Given the description of an element on the screen output the (x, y) to click on. 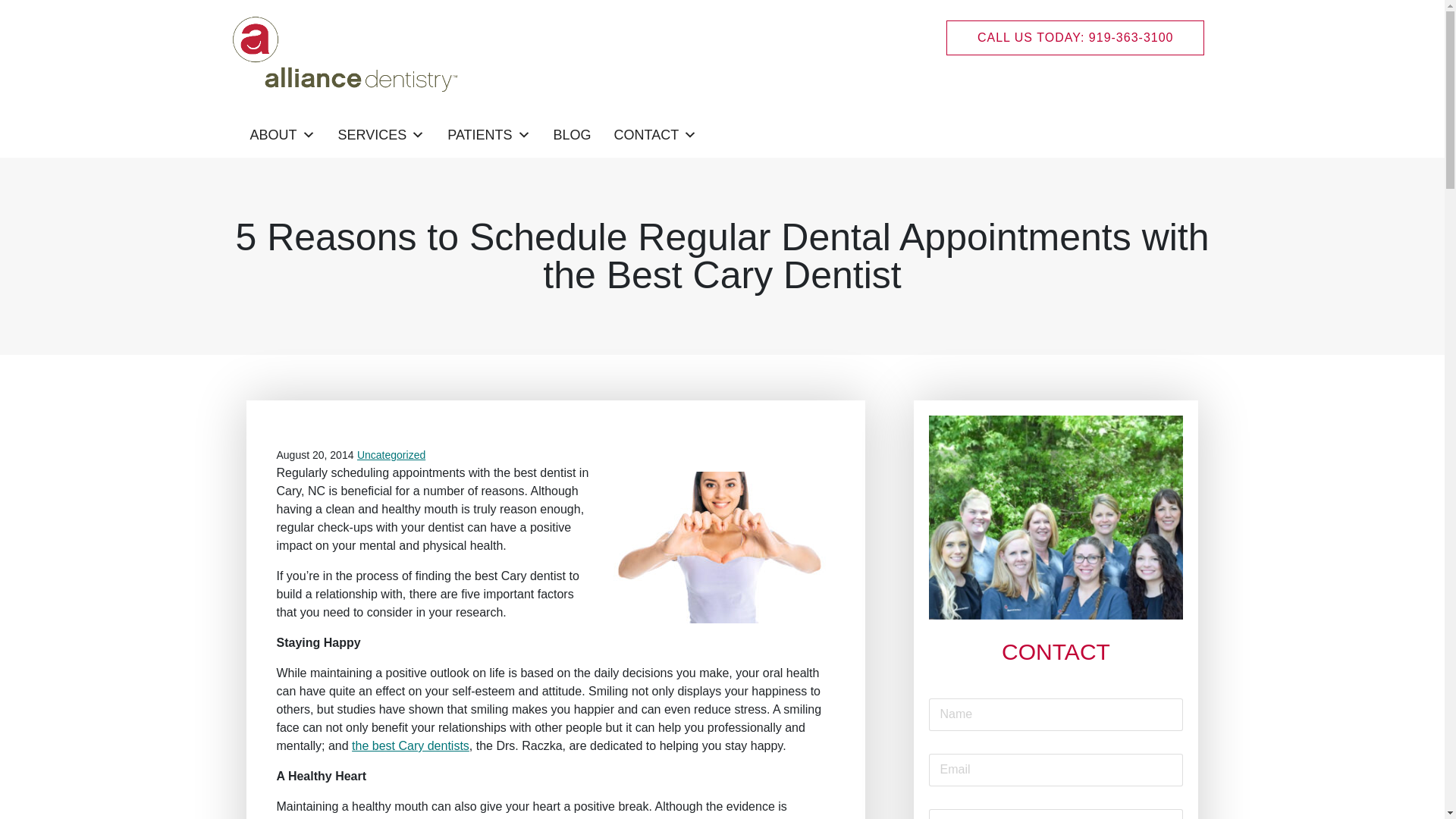
SERVICES (381, 134)
ABOUT (282, 134)
Uncategorized (390, 454)
the best Cary dentists (410, 745)
CONTACT (655, 134)
BLOG (571, 134)
PATIENTS (488, 134)
CALL US TODAY: 919-363-3100 (1075, 37)
